Given the description of an element on the screen output the (x, y) to click on. 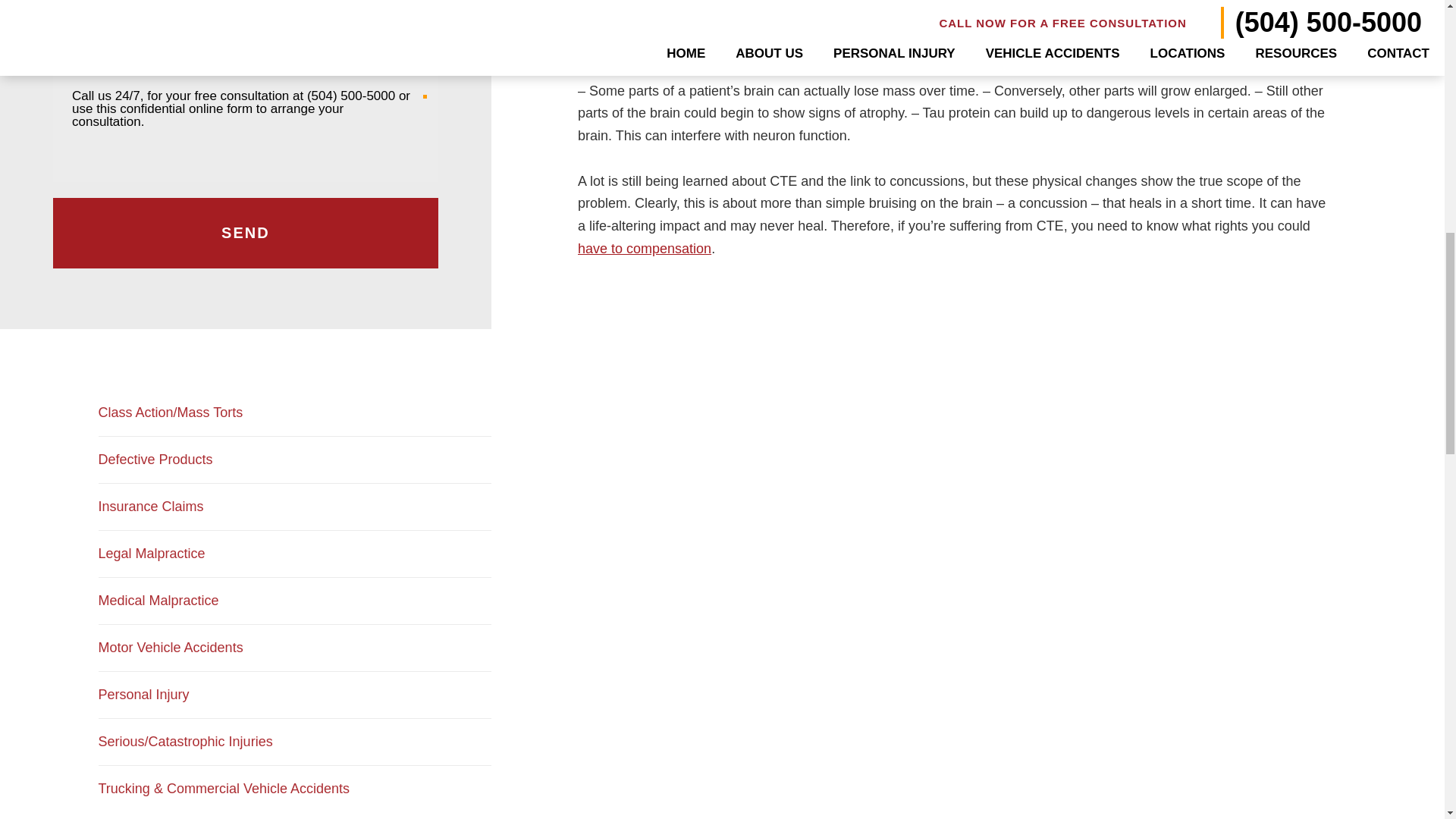
have to compensation (644, 248)
Defective Products (295, 460)
Send (245, 233)
Send (245, 233)
